Given the description of an element on the screen output the (x, y) to click on. 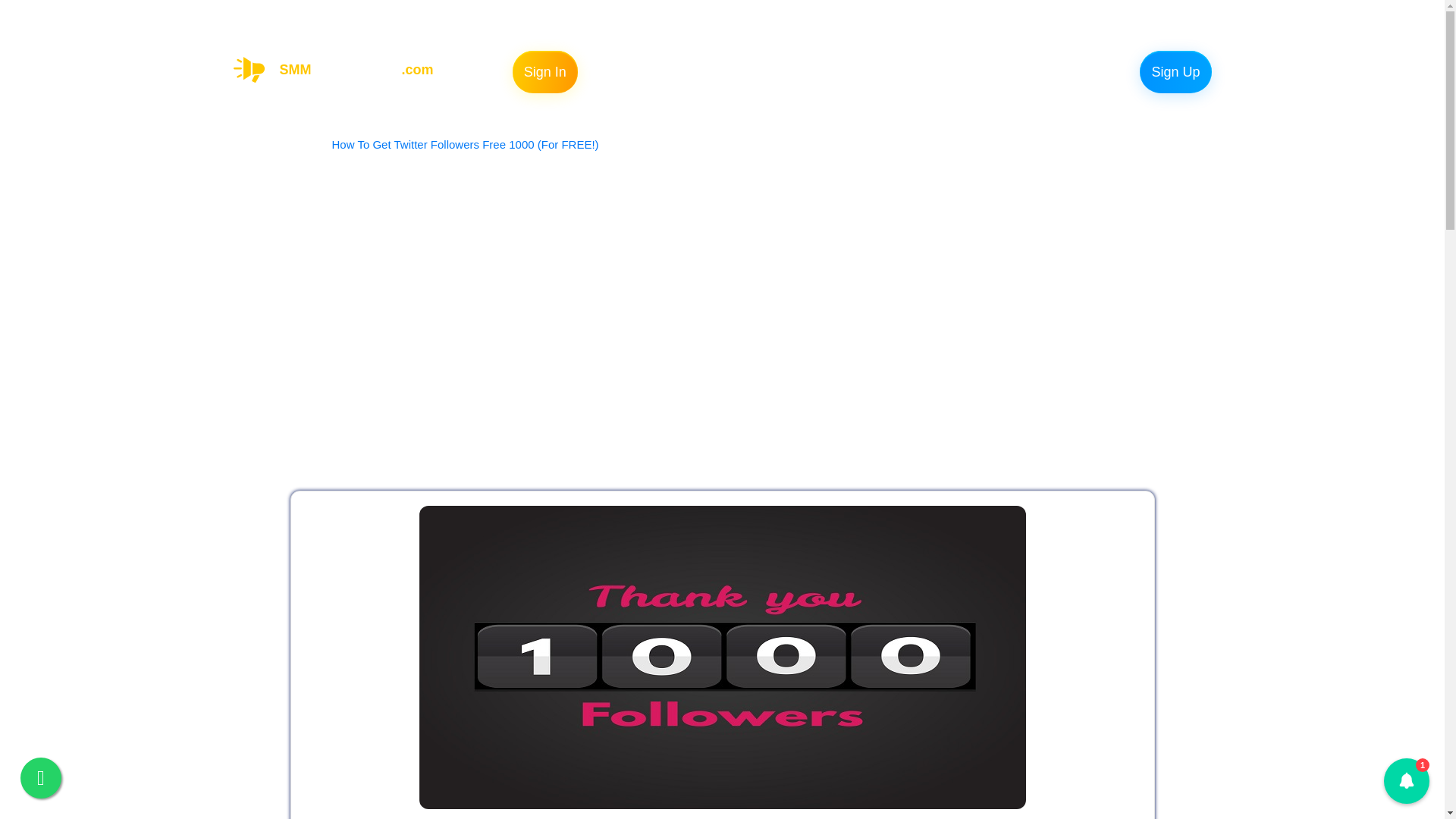
FAQ (677, 71)
Sign Up (338, 69)
Contact Us (1175, 71)
Blog (857, 71)
English US (787, 71)
Home (953, 71)
Terms (304, 144)
Sign In (732, 71)
Services (545, 71)
